Given the description of an element on the screen output the (x, y) to click on. 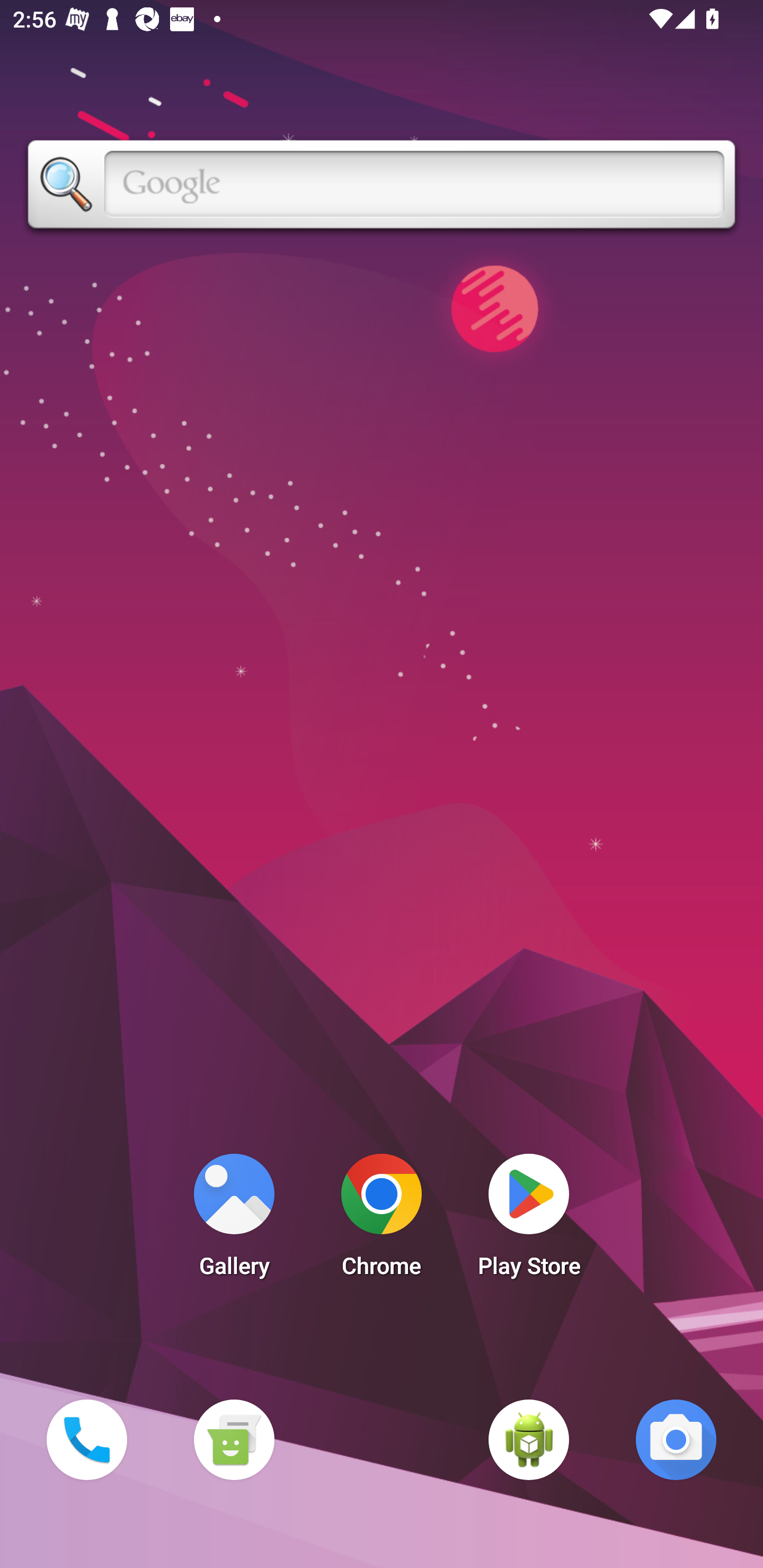
Gallery (233, 1220)
Chrome (381, 1220)
Play Store (528, 1220)
Phone (86, 1439)
Messaging (233, 1439)
WebView Browser Tester (528, 1439)
Camera (676, 1439)
